Given the description of an element on the screen output the (x, y) to click on. 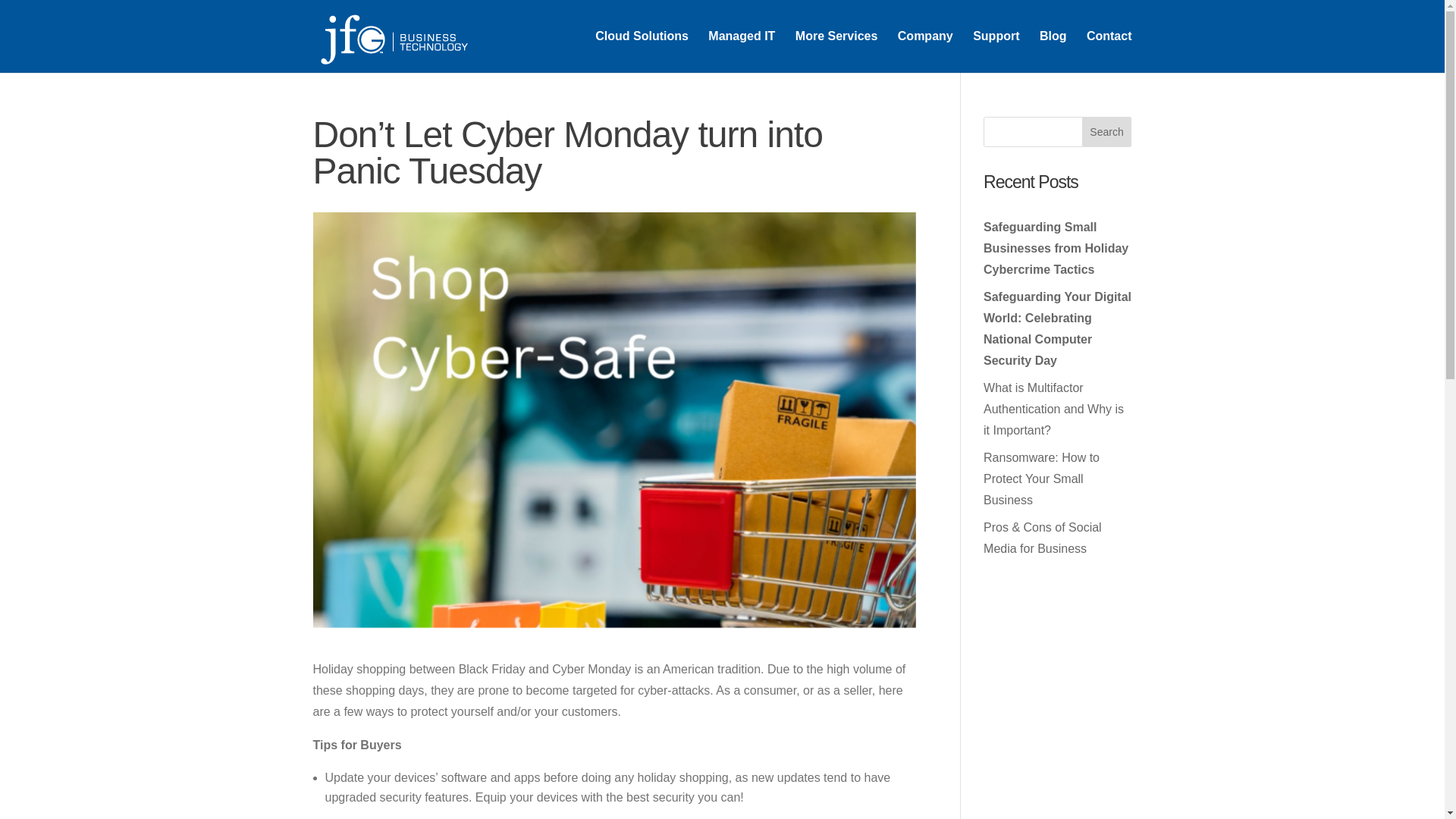
What is Multifactor Authentication and Why is it Important? (1054, 408)
Company (925, 51)
Contact (1109, 51)
Managed IT (740, 51)
Support (995, 51)
Search (1106, 132)
Cloud Solutions (641, 51)
Search (1106, 132)
More Services (835, 51)
Ransomware: How to Protect Your Small Business (1041, 478)
